Given the description of an element on the screen output the (x, y) to click on. 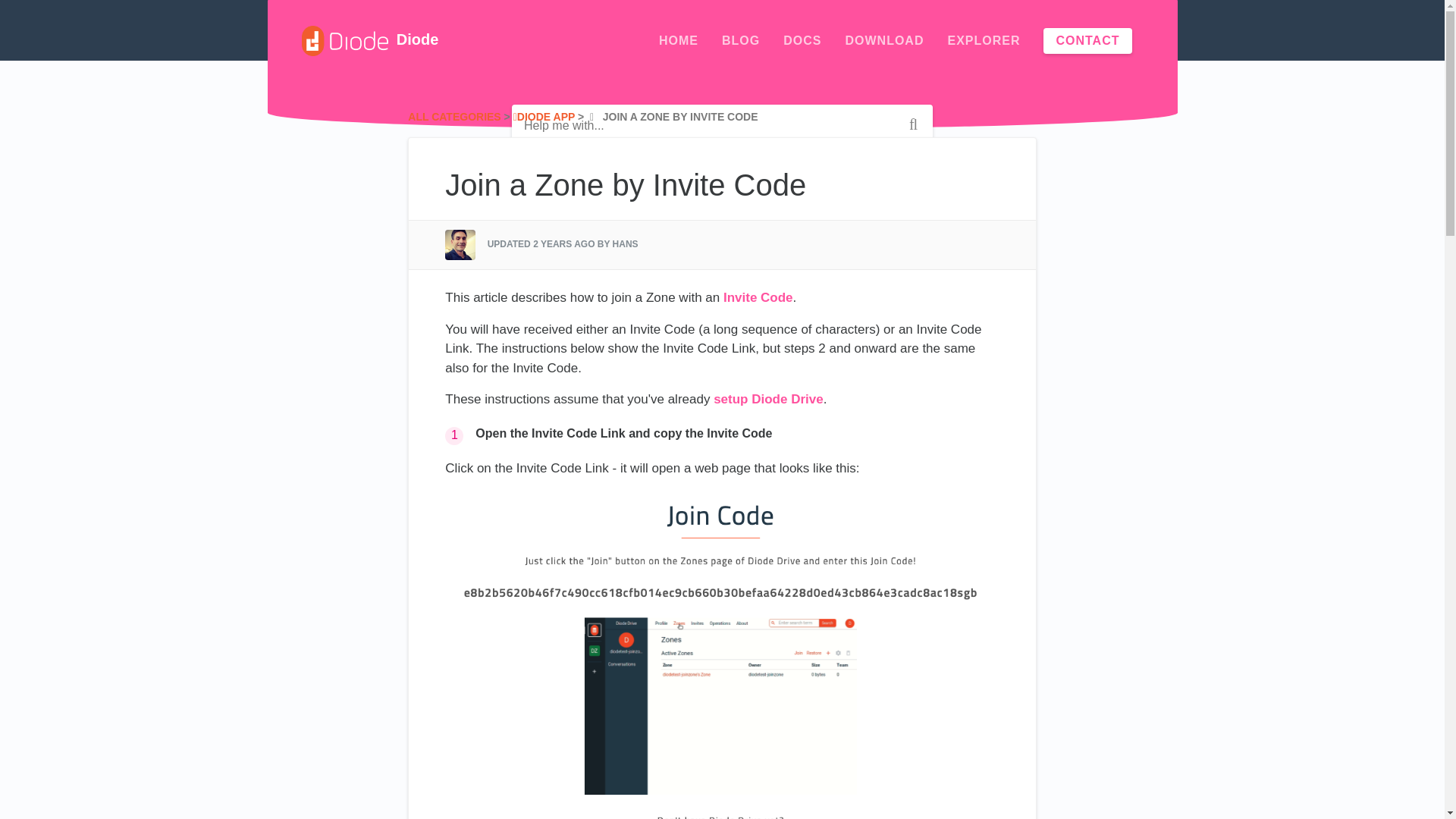
EXPLORER (983, 40)
DOWNLOAD (883, 40)
BLOG (741, 40)
DIODE APP (544, 116)
CONTACT (1087, 40)
Diode (370, 40)
DOCS (802, 40)
setup Diode Drive (768, 399)
ALL CATEGORIES (453, 116)
HOME (678, 40)
Invite Code (758, 297)
